Given the description of an element on the screen output the (x, y) to click on. 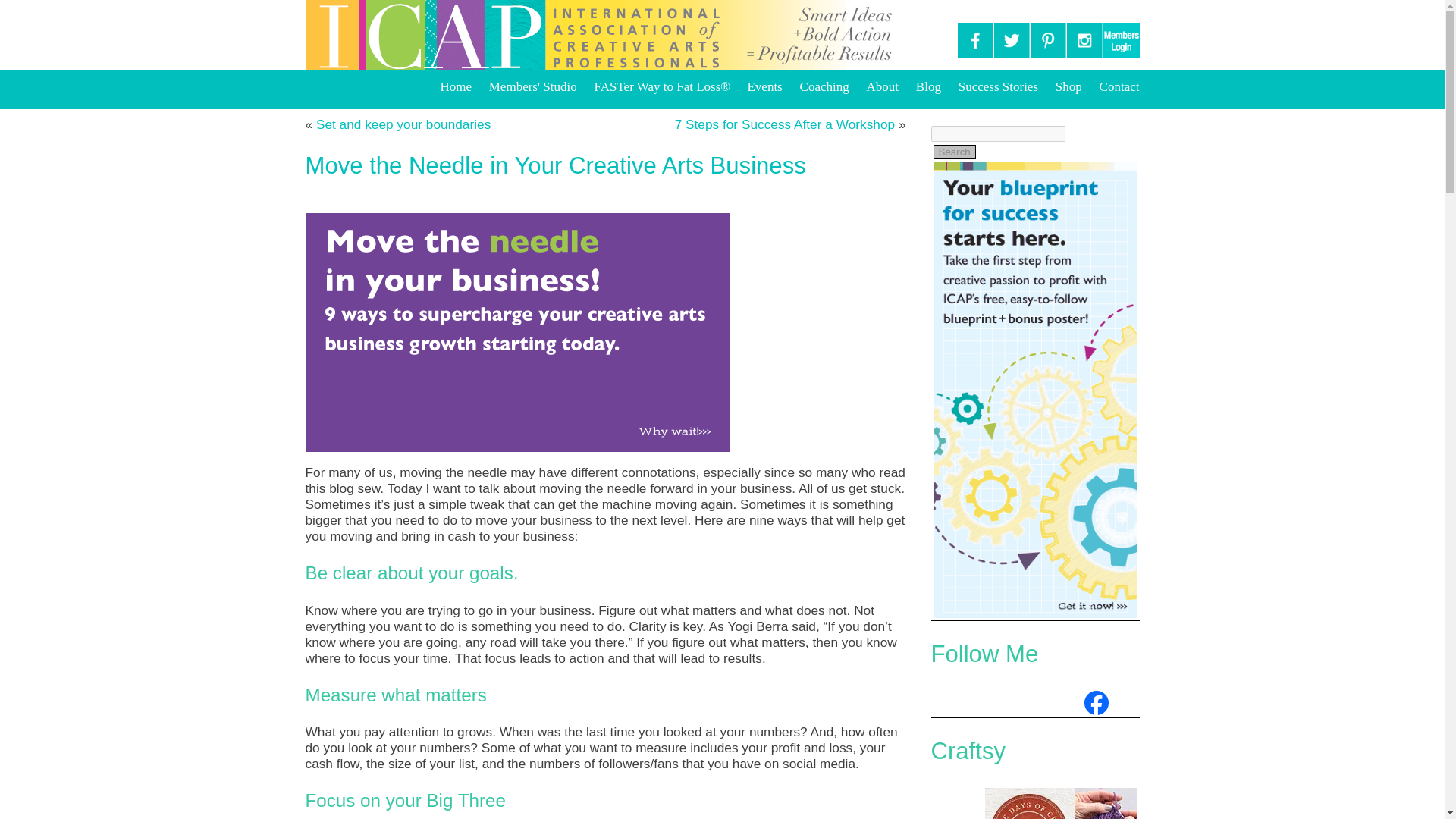
7 Steps for Success After a Workshop (785, 124)
Set and keep your boundaries (402, 124)
Contact Us (1119, 86)
Search (954, 151)
Coaching (823, 86)
Success Stories (998, 86)
Search (954, 151)
Shop (1068, 86)
Events (763, 86)
About (882, 86)
